Given the description of an element on the screen output the (x, y) to click on. 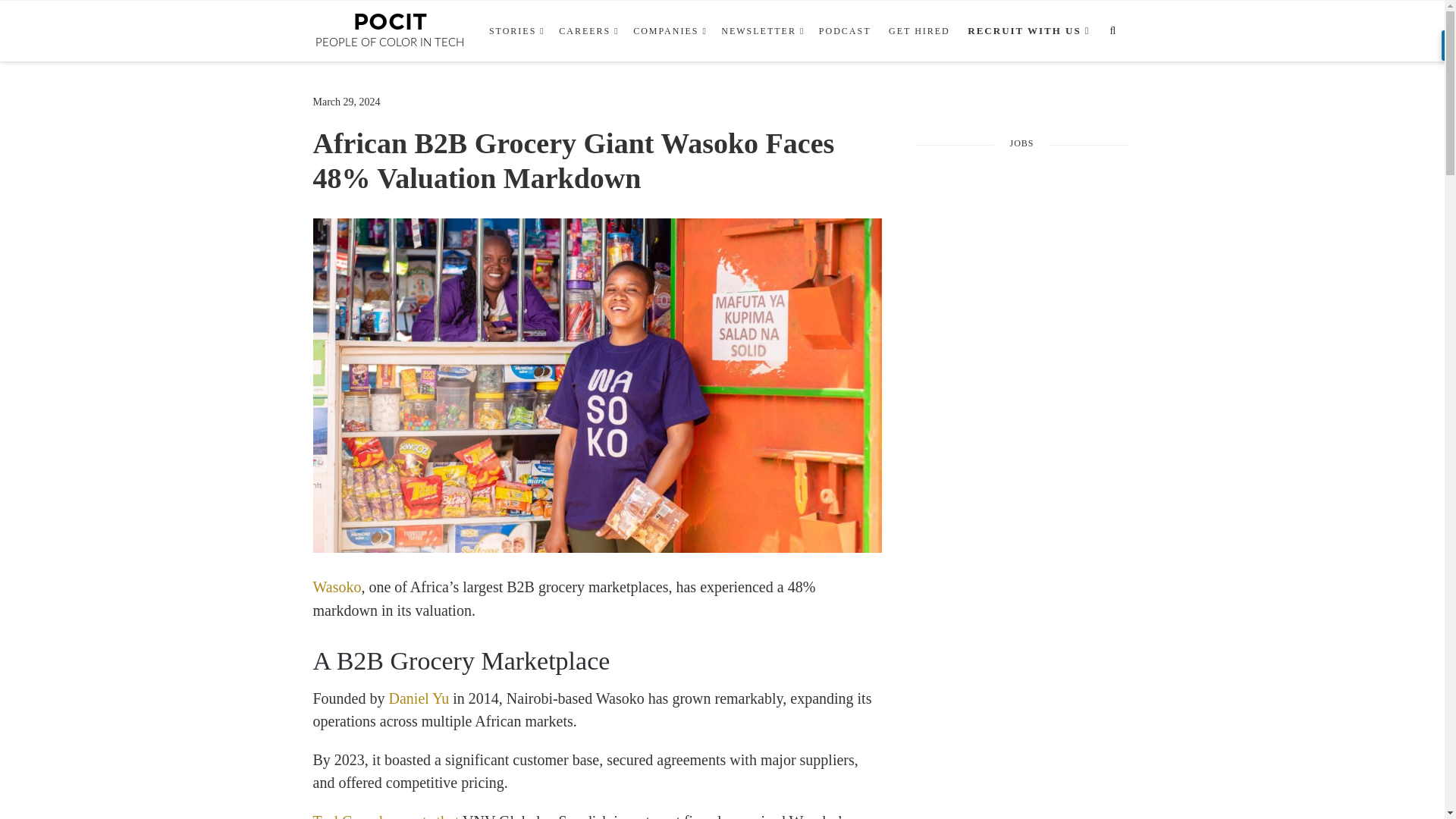
get-hired (919, 30)
partner (1026, 30)
